Given the description of an element on the screen output the (x, y) to click on. 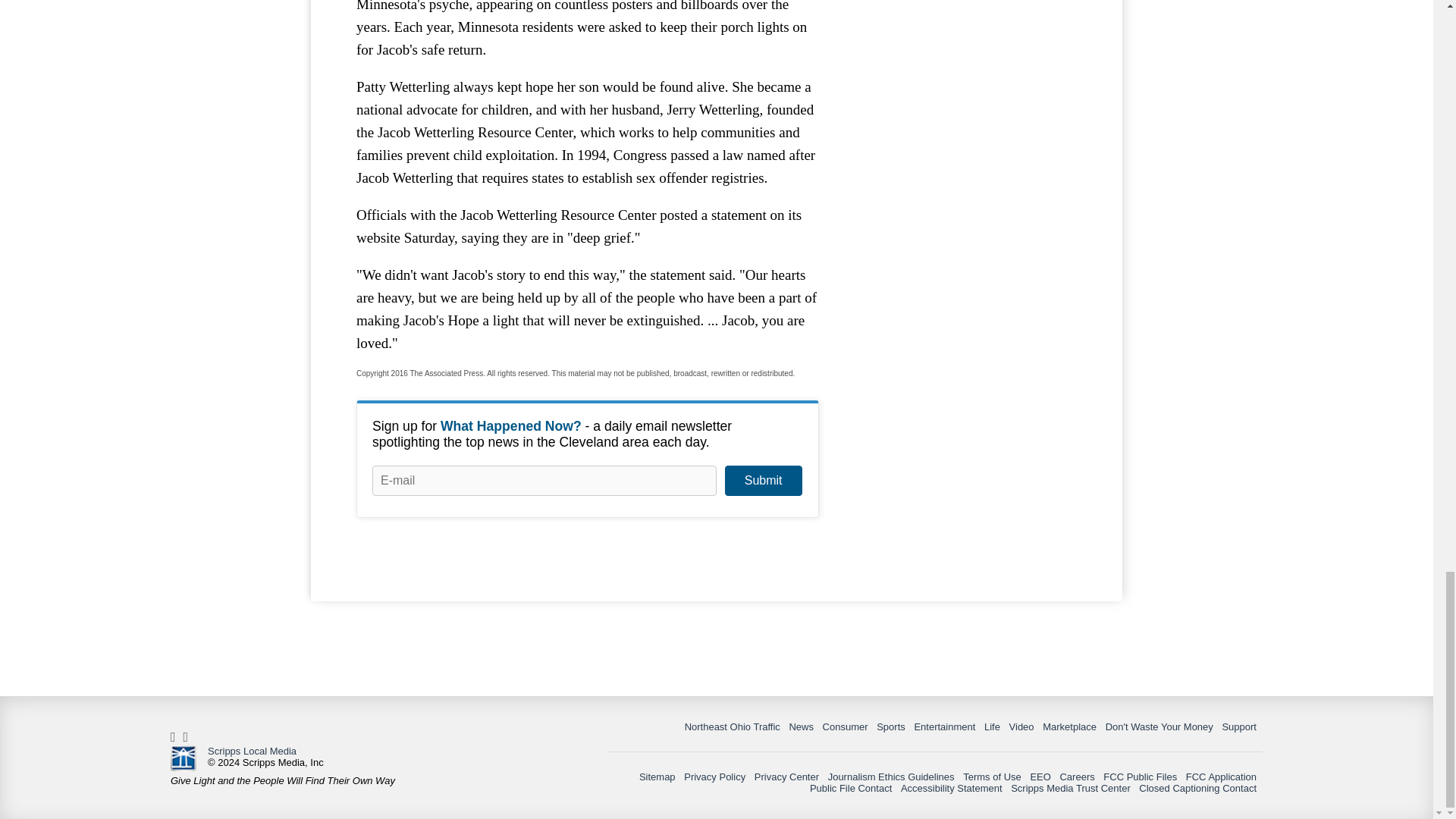
Submit (763, 481)
